Given the description of an element on the screen output the (x, y) to click on. 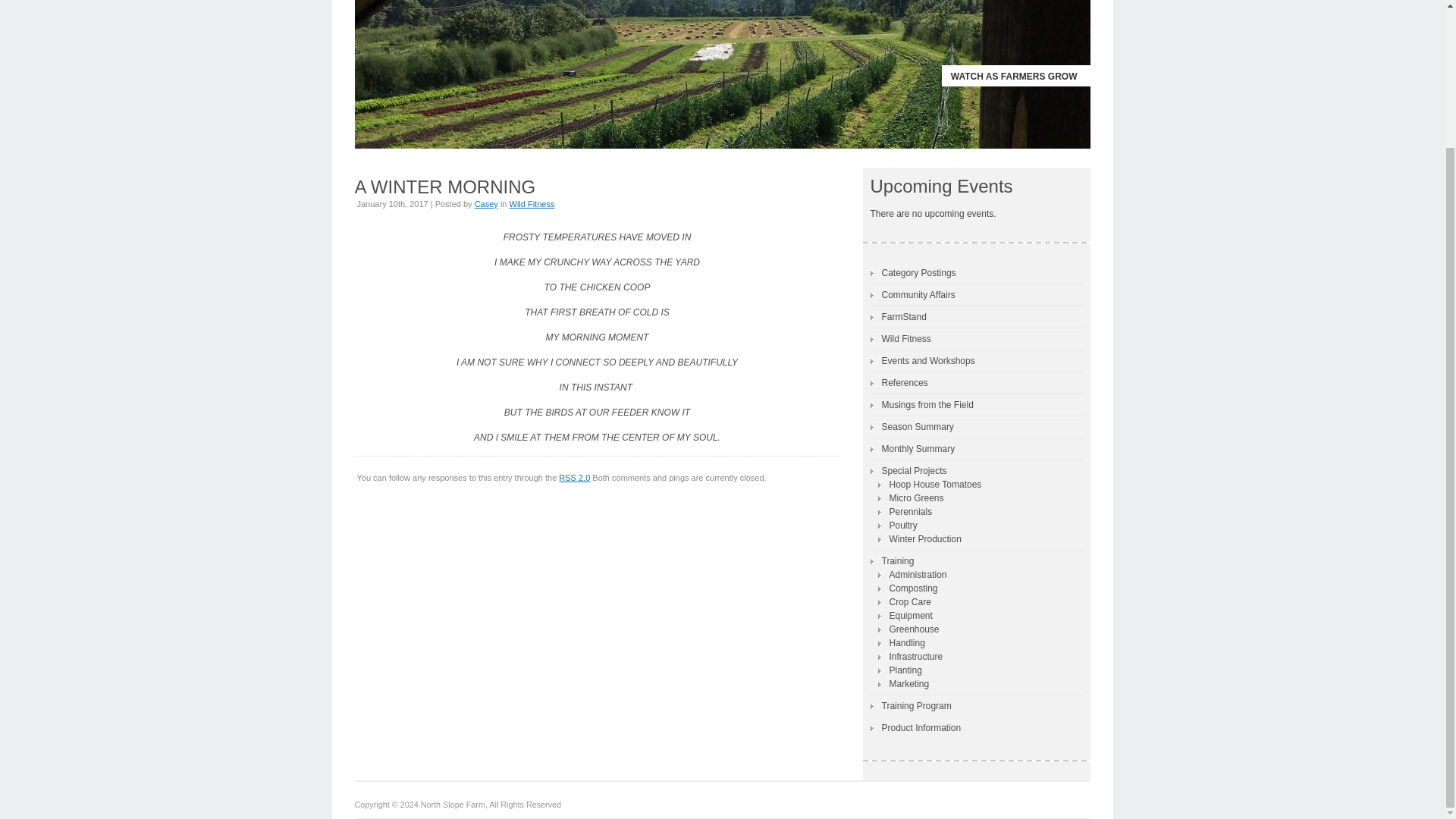
Composting (907, 588)
Community Affairs (912, 294)
References (899, 382)
View all posts by Casey (485, 203)
Infrastructure (910, 656)
Winter Production (918, 538)
RSS 2.0 (574, 477)
FarmStand (898, 316)
Upcoming Events (941, 186)
Poultry (897, 524)
